Given the description of an element on the screen output the (x, y) to click on. 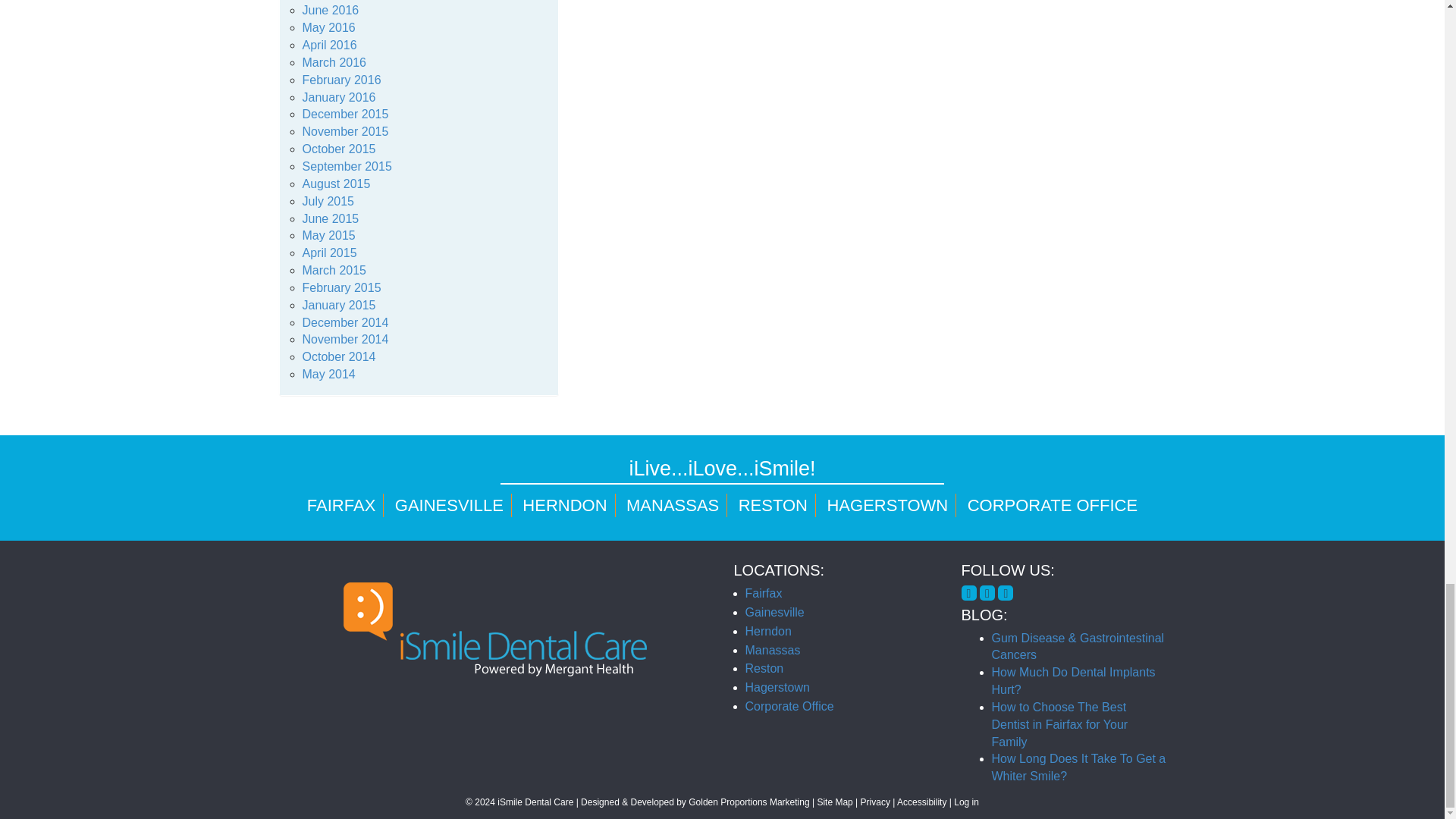
iSmile Dental Care (495, 629)
